Given the description of an element on the screen output the (x, y) to click on. 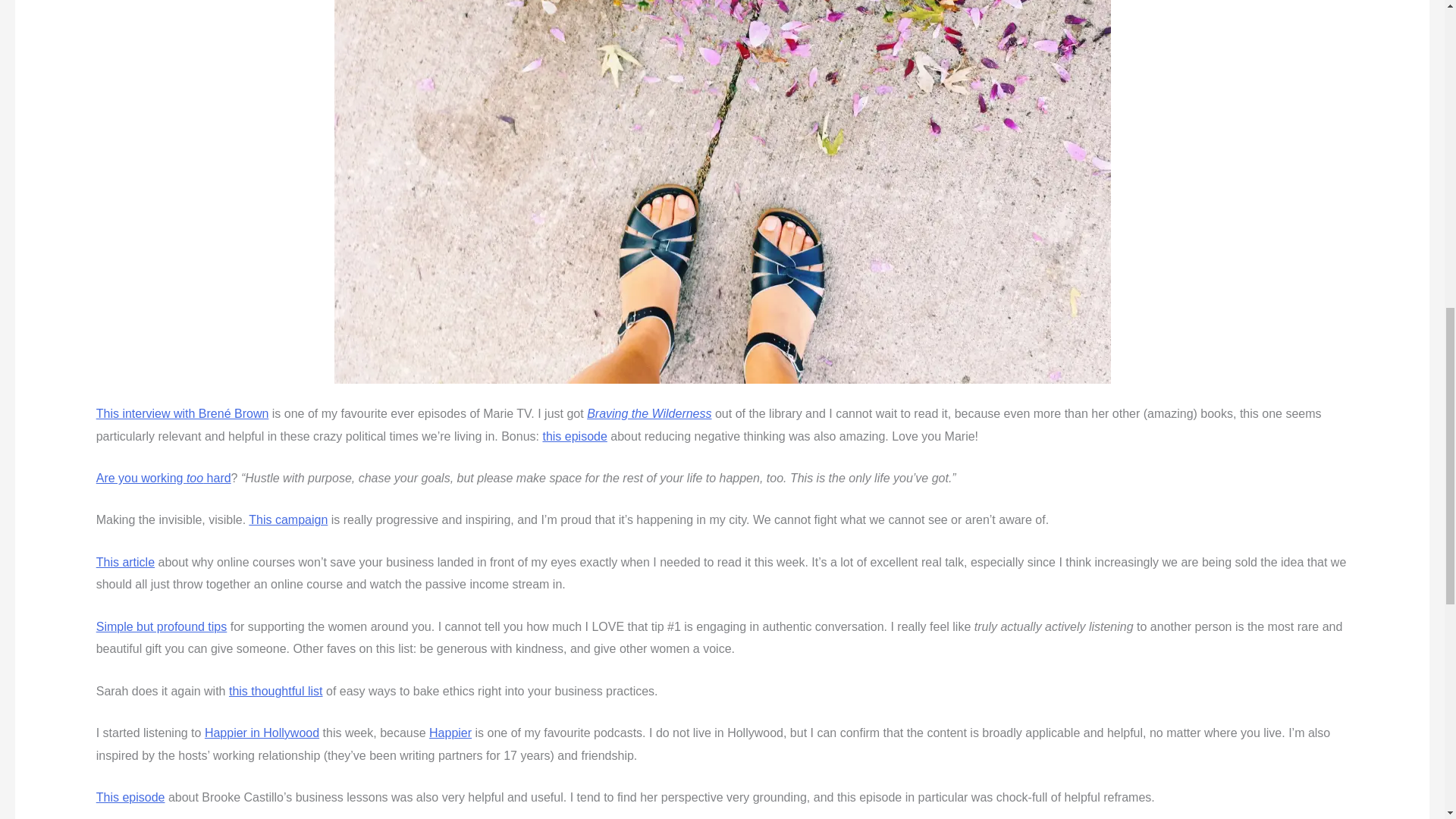
this episode (574, 436)
Braving the Wilderness (648, 413)
Are you working too hard (163, 477)
